Given the description of an element on the screen output the (x, y) to click on. 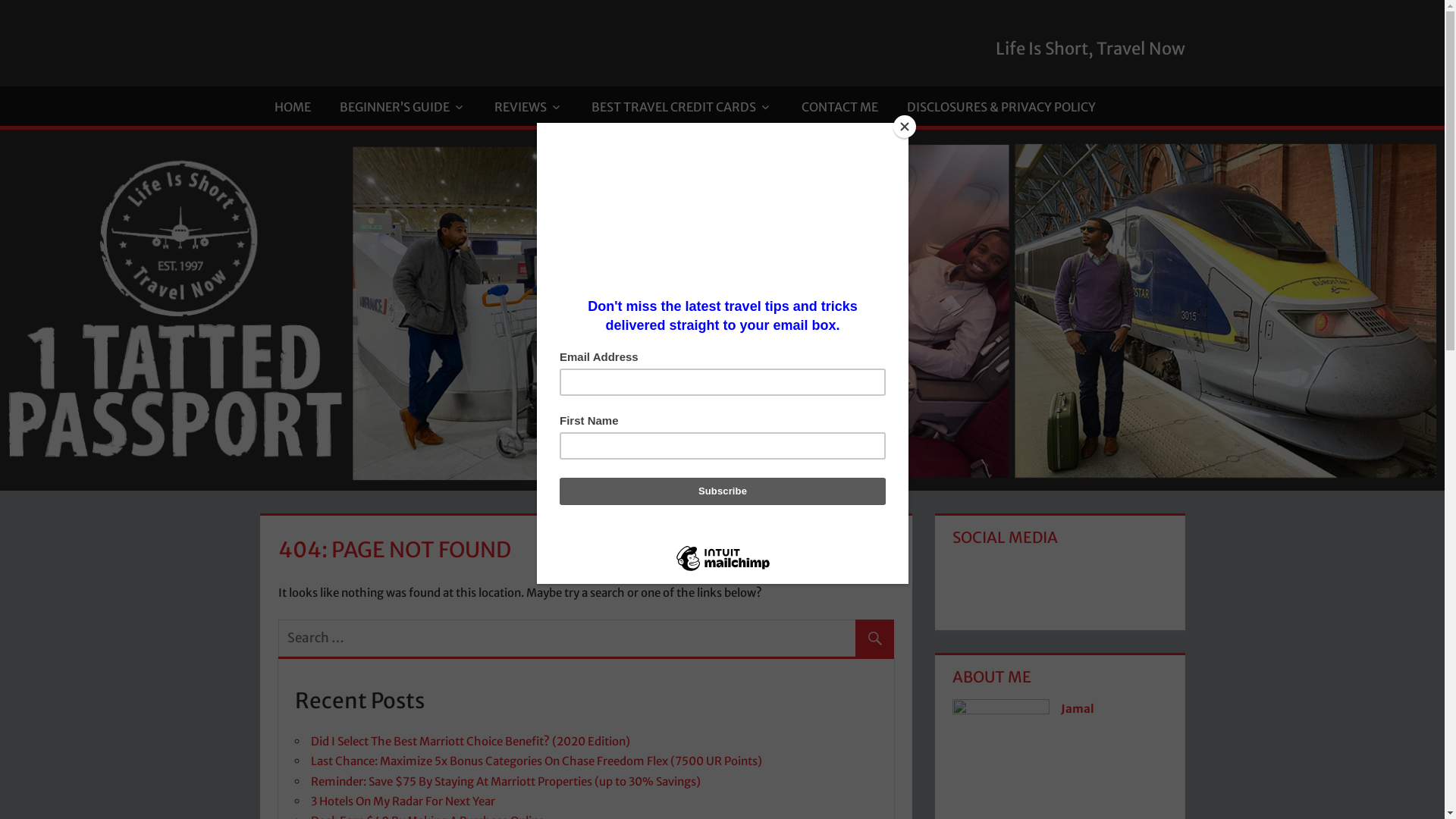
DISCLOSURES & PRIVACY POLICY Element type: text (1001, 105)
BEST TRAVEL CREDIT CARDS Element type: text (681, 105)
REVIEWS Element type: text (528, 105)
Jamal Element type: text (1077, 708)
CONTACT ME Element type: text (838, 105)
HOME Element type: text (291, 105)
Search for: Element type: hover (585, 637)
3 Hotels On My Radar For Next Year Element type: text (402, 800)
